Given the description of an element on the screen output the (x, y) to click on. 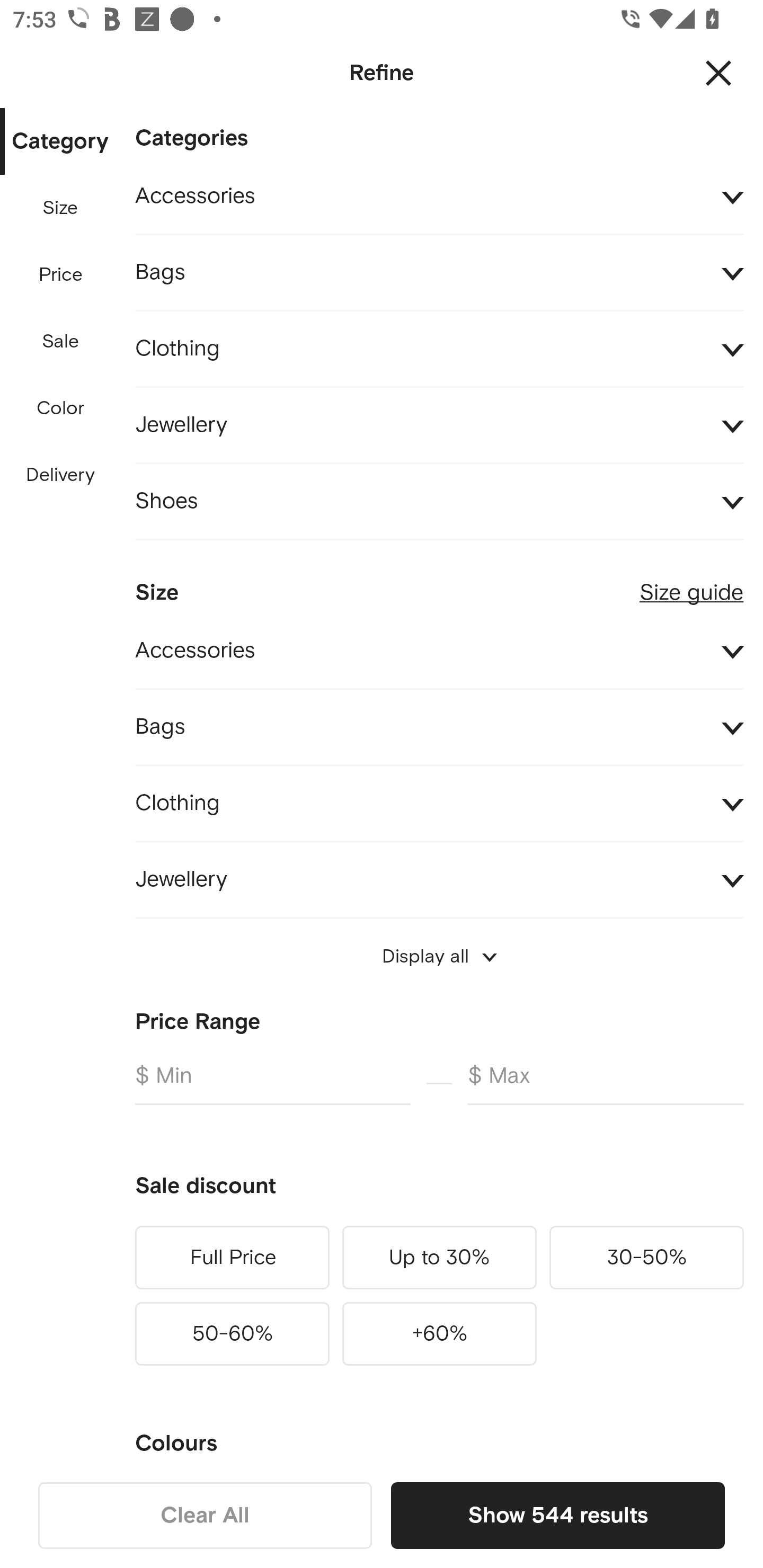
Category (60, 141)
Accessories (439, 196)
Size (60, 208)
Bags (439, 272)
Price (60, 274)
Sale (60, 342)
Clothing (439, 348)
Color (60, 408)
Jewellery (439, 425)
Delivery (60, 475)
Shoes (439, 501)
Size guide (691, 585)
Accessories (439, 651)
Bags (439, 727)
Clothing (439, 803)
Jewellery (439, 879)
Display all (439, 956)
$ Min (272, 1083)
$ Max (605, 1083)
Full Price (232, 1257)
Up to 30% (439, 1257)
30-50% (646, 1257)
50-60% (232, 1333)
+60% (439, 1333)
Clear All (205, 1515)
Show 544 results (557, 1515)
